Given the description of an element on the screen output the (x, y) to click on. 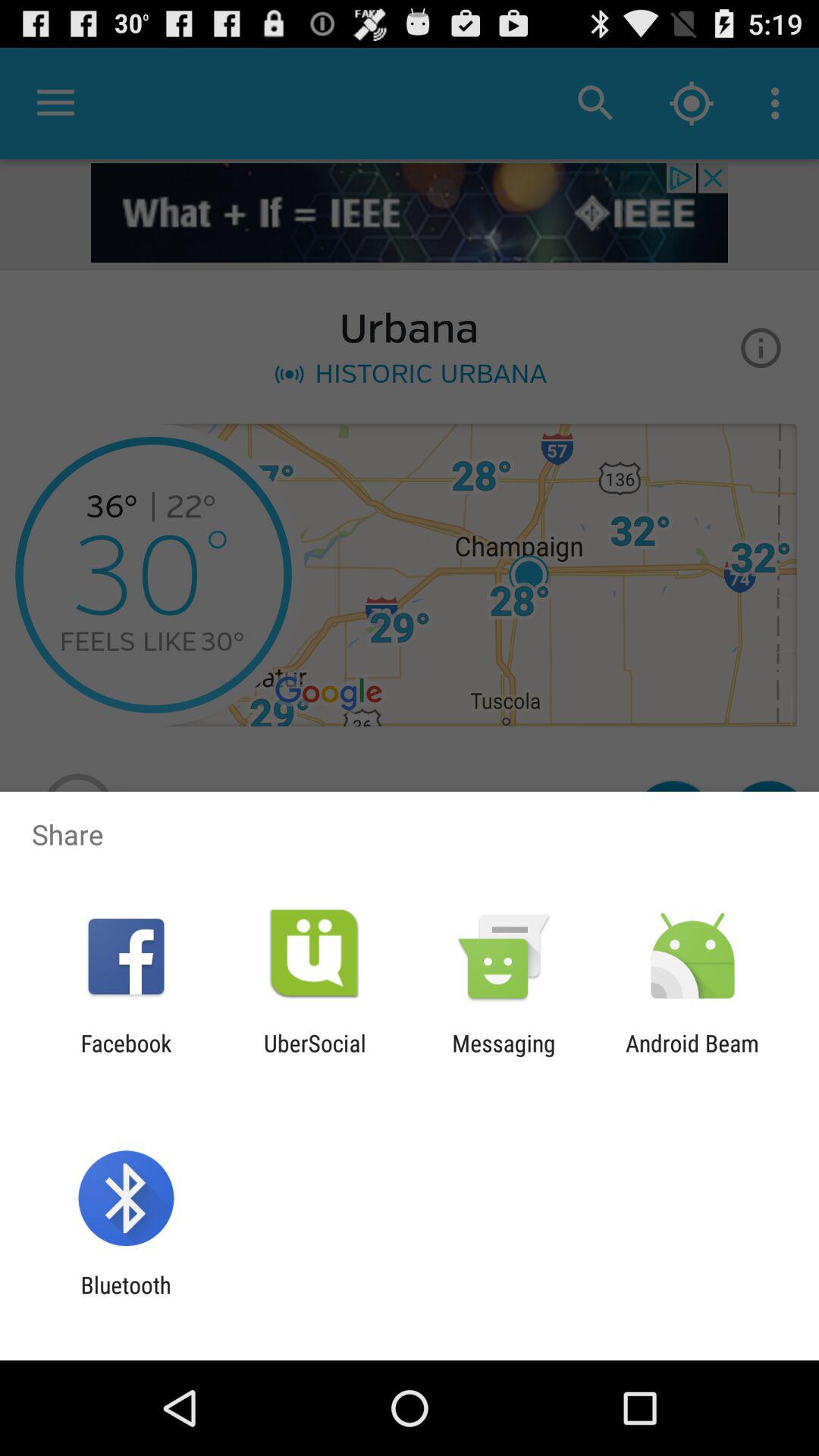
swipe to the facebook item (125, 1056)
